Given the description of an element on the screen output the (x, y) to click on. 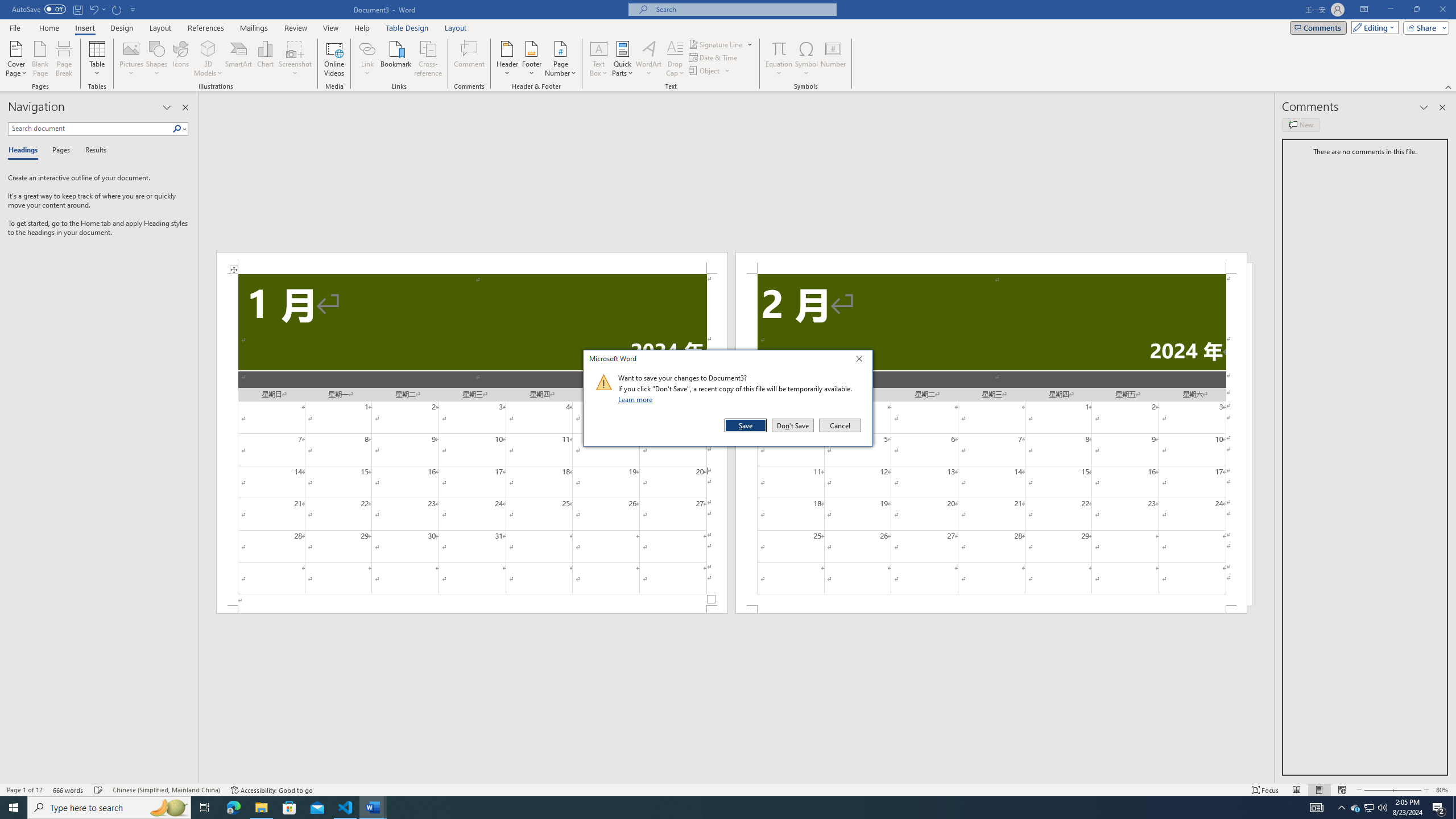
Object... (709, 69)
